Given the description of an element on the screen output the (x, y) to click on. 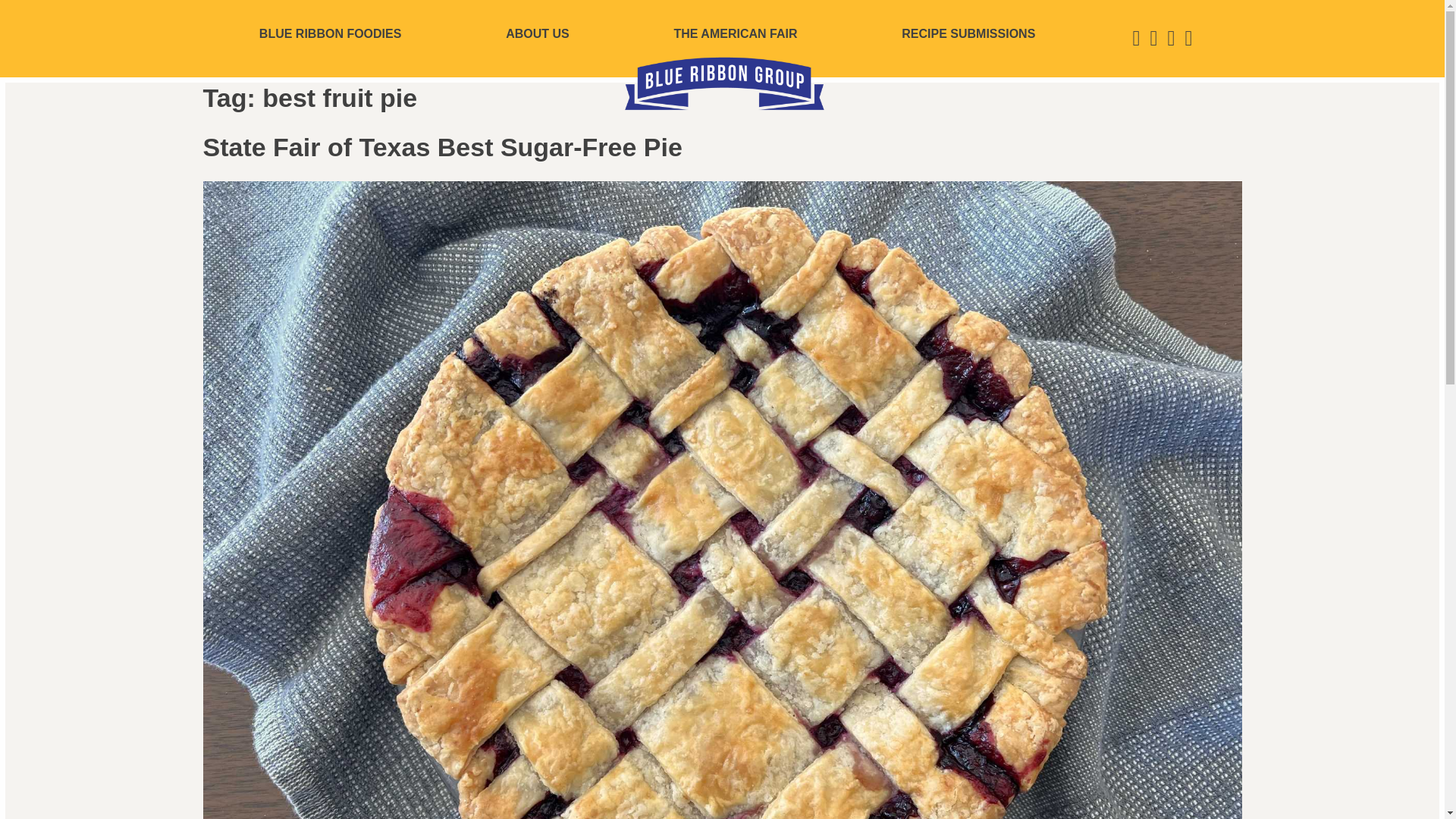
RECIPE SUBMISSIONS (967, 33)
ABOUT US (536, 33)
THE AMERICAN FAIR (735, 33)
BLUE RIBBON FOODIES (330, 33)
BLUE RIBBON GROUP (724, 82)
